Given the description of an element on the screen output the (x, y) to click on. 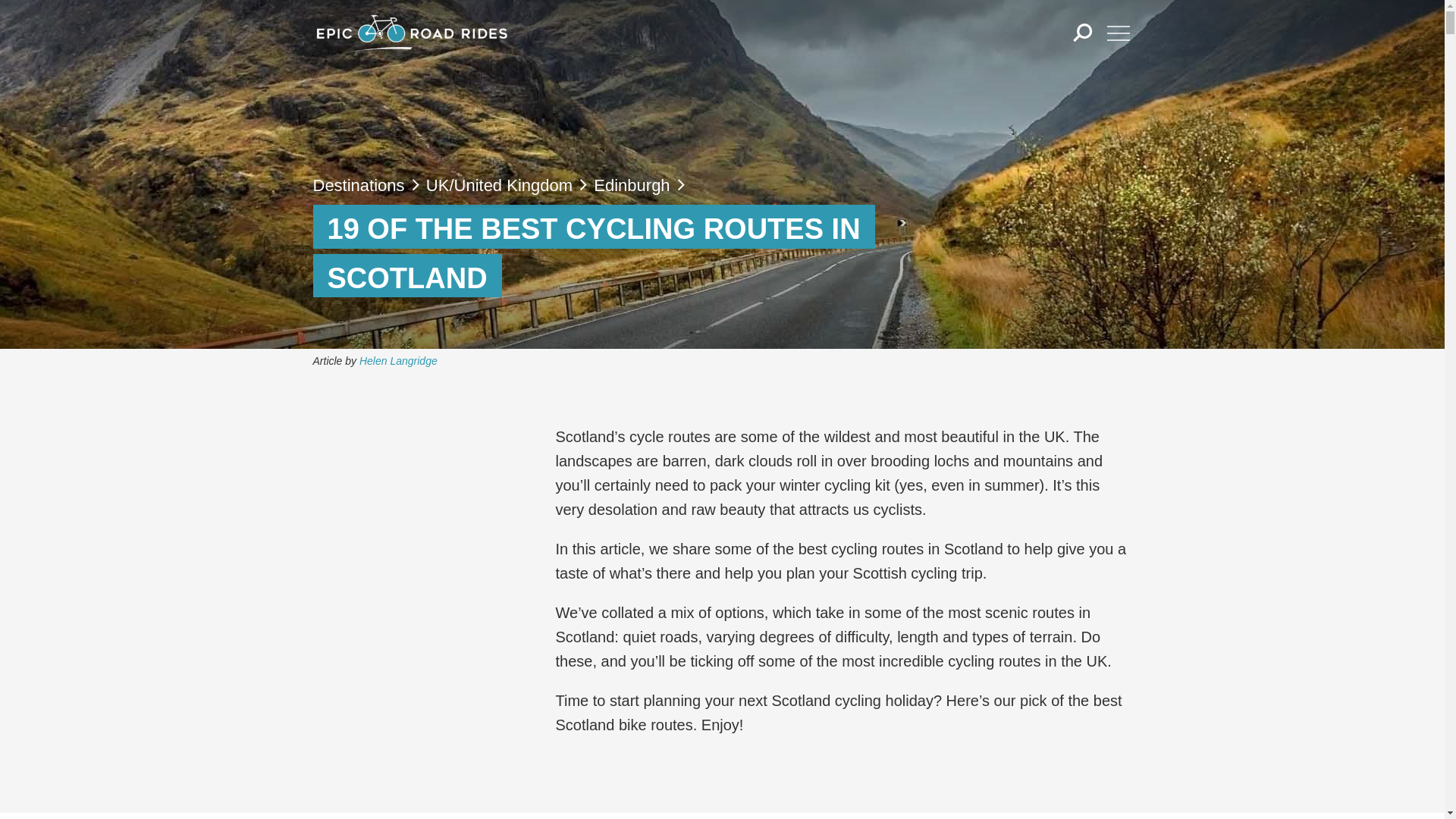
Helen Langridge (398, 360)
Destinations (358, 185)
Epic Road Rides (411, 33)
Edinburgh (631, 185)
